Given the description of an element on the screen output the (x, y) to click on. 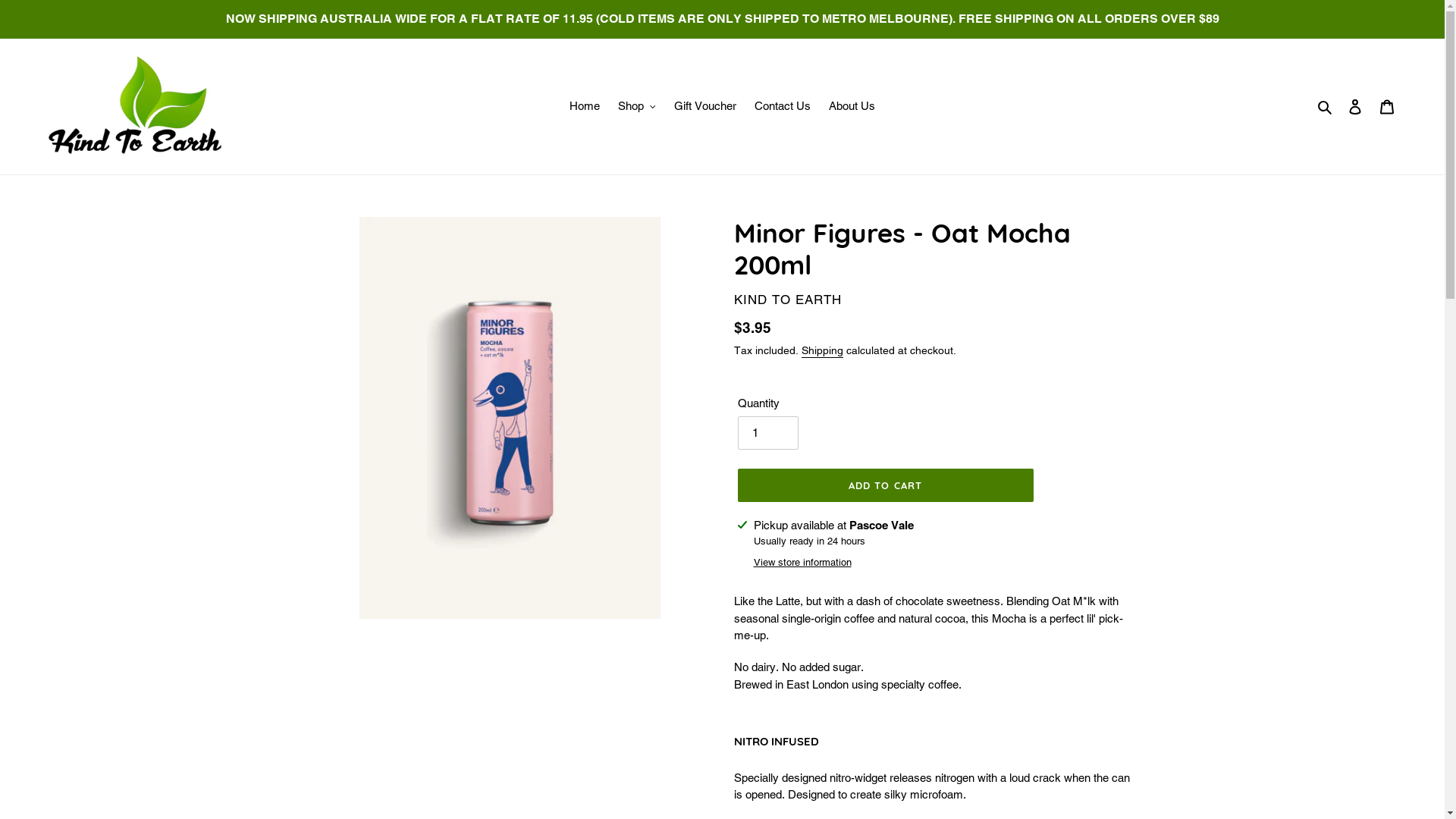
Home Element type: text (584, 106)
Gift Voucher Element type: text (704, 106)
Contact Us Element type: text (782, 106)
Shipping Element type: text (821, 350)
Shop Element type: text (636, 106)
About Us Element type: text (851, 106)
Search Element type: text (1325, 106)
View store information Element type: text (802, 562)
ADD TO CART Element type: text (884, 485)
Log in Element type: text (1355, 106)
Cart Element type: text (1386, 106)
